Given the description of an element on the screen output the (x, y) to click on. 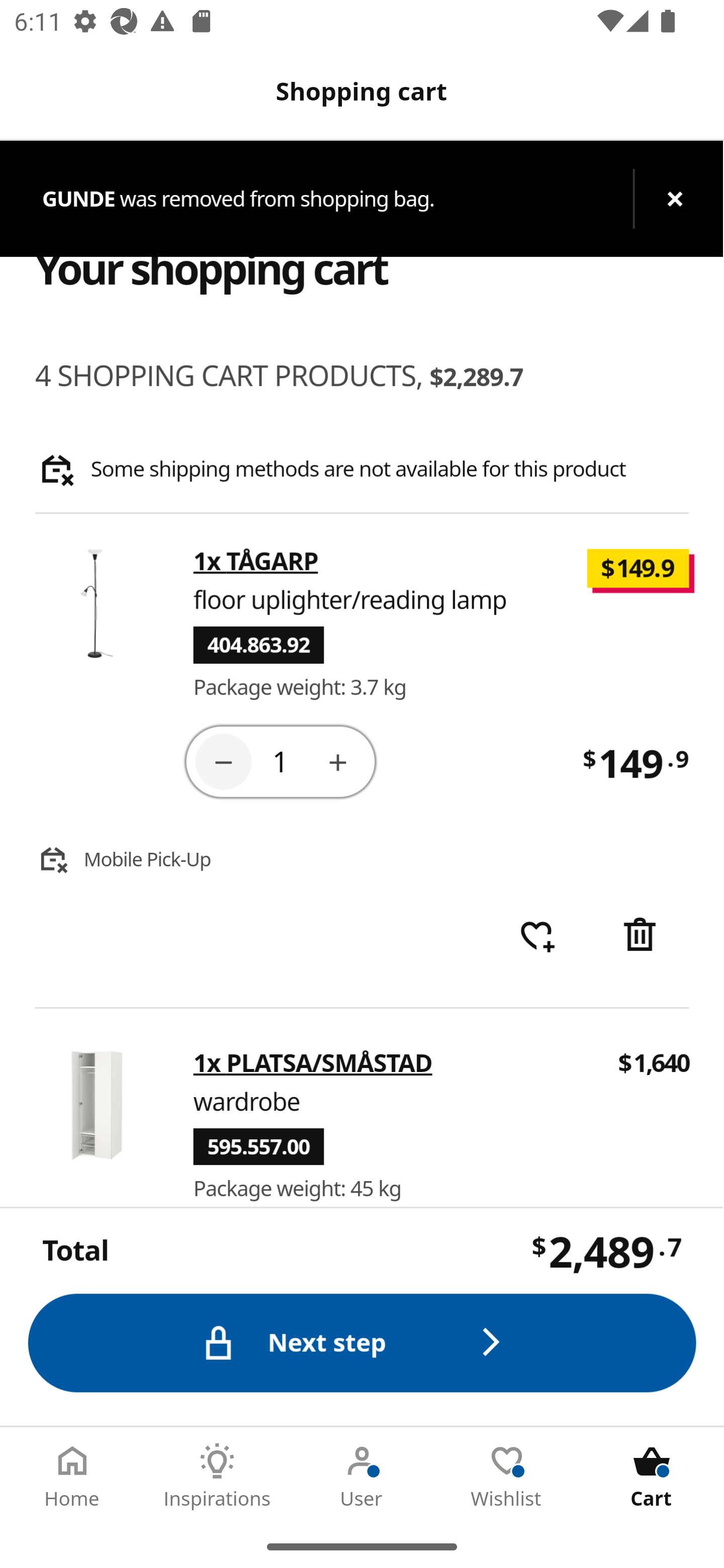
1x  TÅGARP 1x  TÅGARP (256, 561)
1 (281, 760)
 (223, 761)
 (338, 761)
  (536, 935)
 (641, 935)
1x  PLATSA/SMÅSTAD 1x  PLATSA/SMÅSTAD (313, 1062)
Home
Tab 1 of 5 (72, 1476)
Inspirations
Tab 2 of 5 (216, 1476)
User
Tab 3 of 5 (361, 1476)
Wishlist
Tab 4 of 5 (506, 1476)
Cart
Tab 5 of 5 (651, 1476)
